Given the description of an element on the screen output the (x, y) to click on. 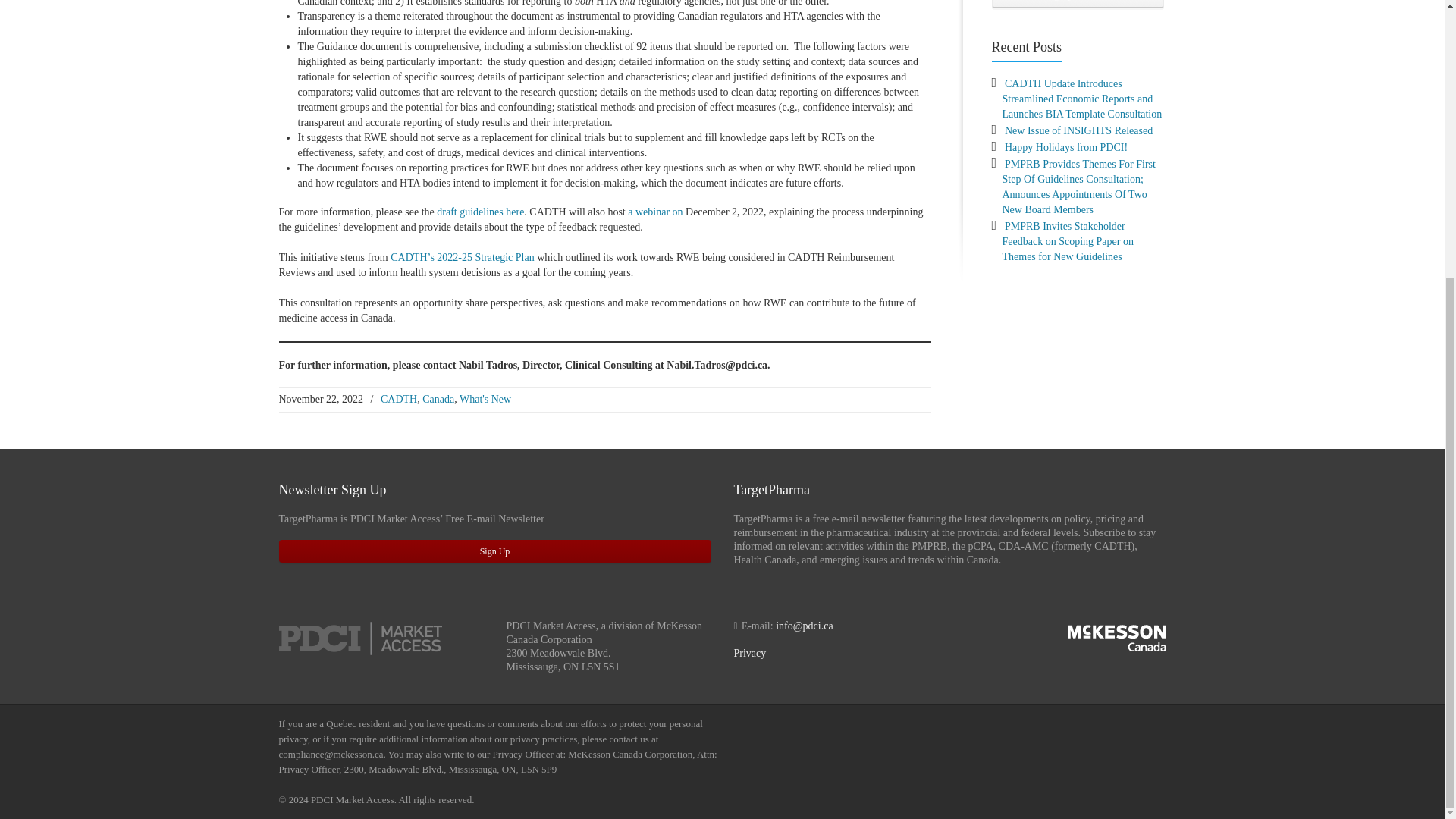
Happy Holidays from PDCI! (1065, 147)
CADTH (398, 398)
What's New (485, 398)
Canada (438, 398)
Privacy (750, 653)
a webinar on (654, 211)
draft guidelines here (480, 211)
Sign Up (495, 550)
